Given the description of an element on the screen output the (x, y) to click on. 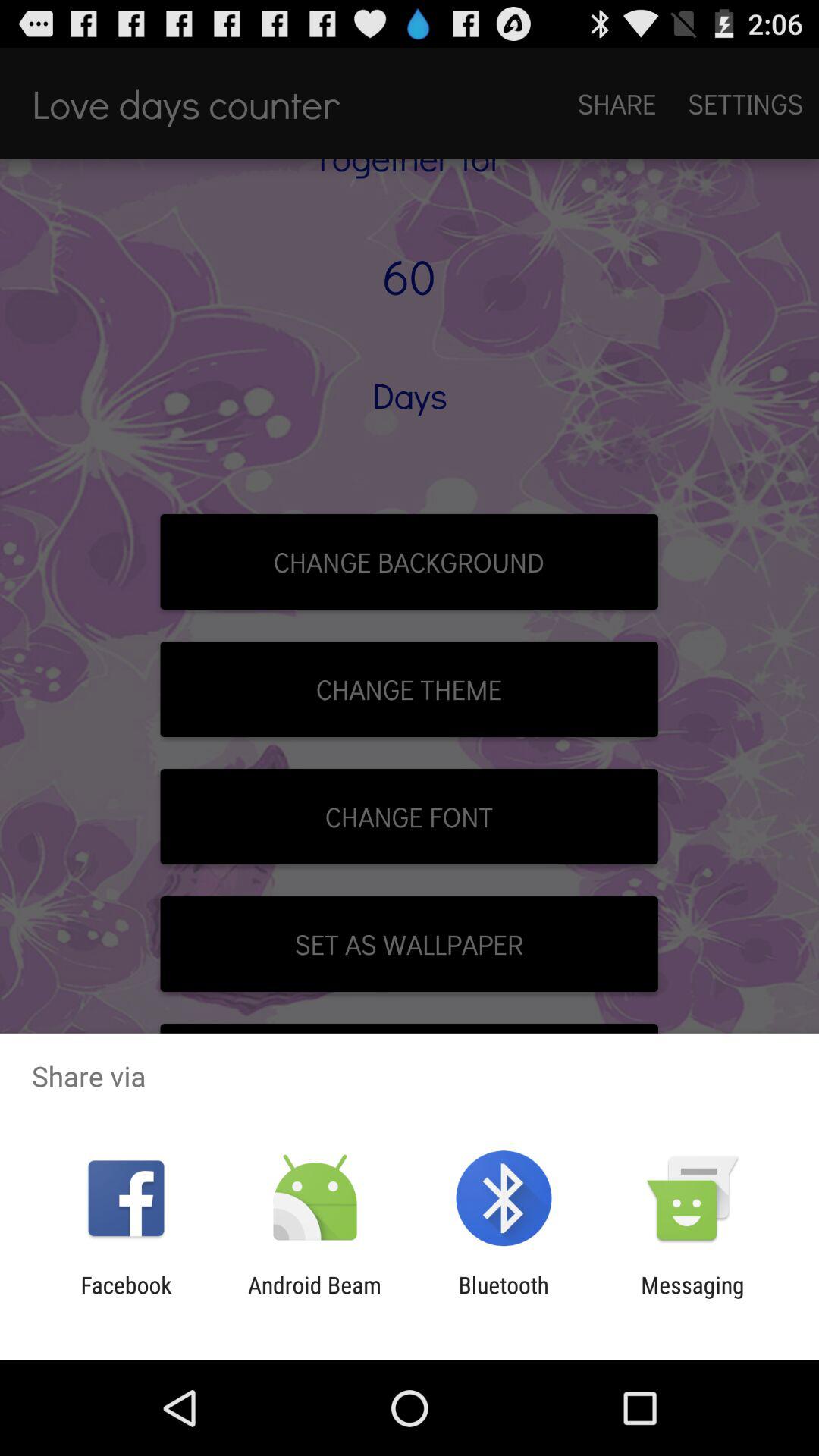
press icon to the right of the facebook app (314, 1298)
